Given the description of an element on the screen output the (x, y) to click on. 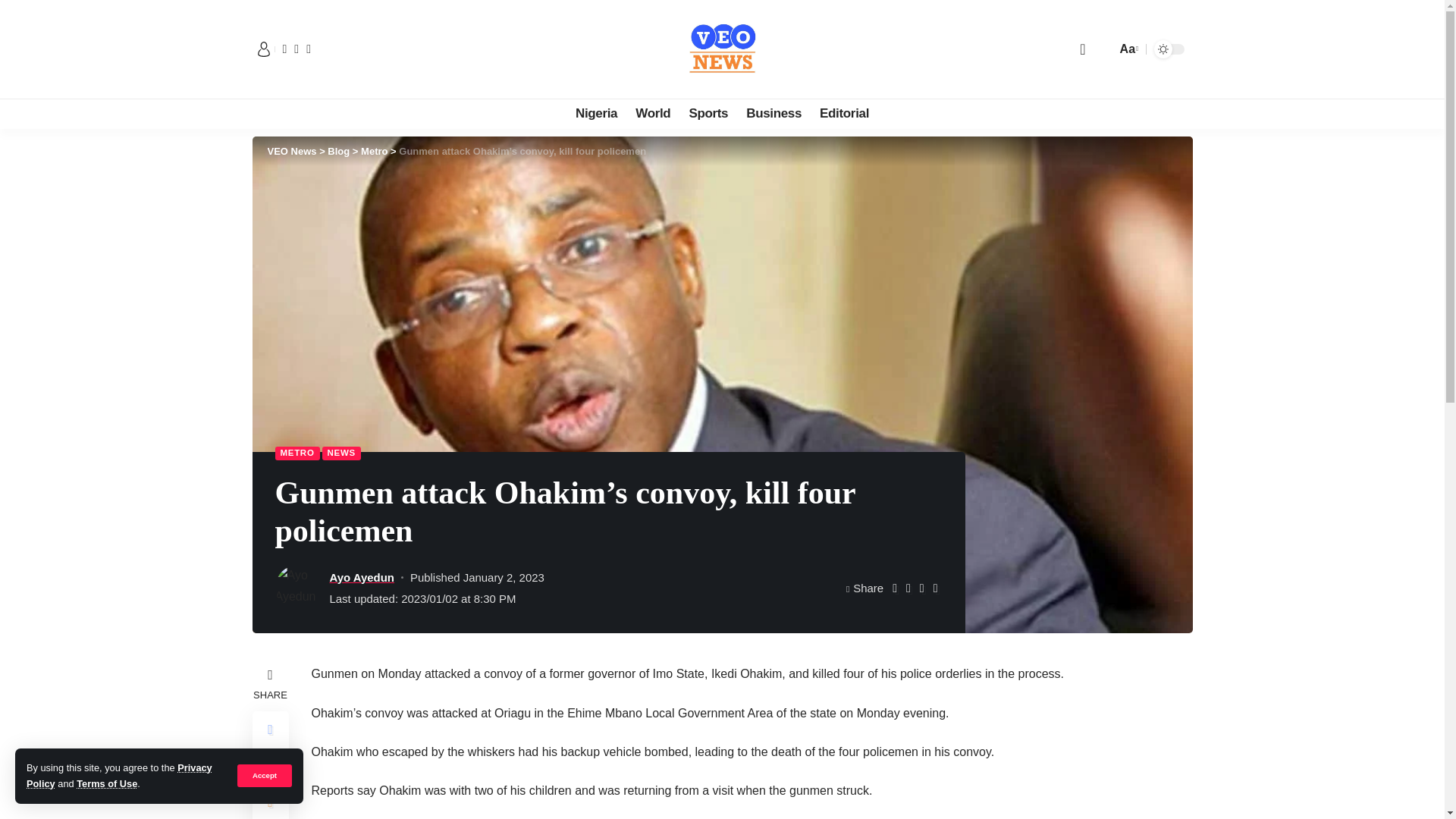
Business (773, 113)
Privacy Policy (119, 775)
World (652, 113)
Aa (1127, 48)
VEO News (722, 48)
Sports (707, 113)
Terms of Use (106, 783)
Editorial (843, 113)
Nigeria (596, 113)
Go to Blog. (338, 151)
Accept (264, 775)
Go to VEO News. (290, 151)
Go to the Metro Category archives. (374, 151)
